Given the description of an element on the screen output the (x, y) to click on. 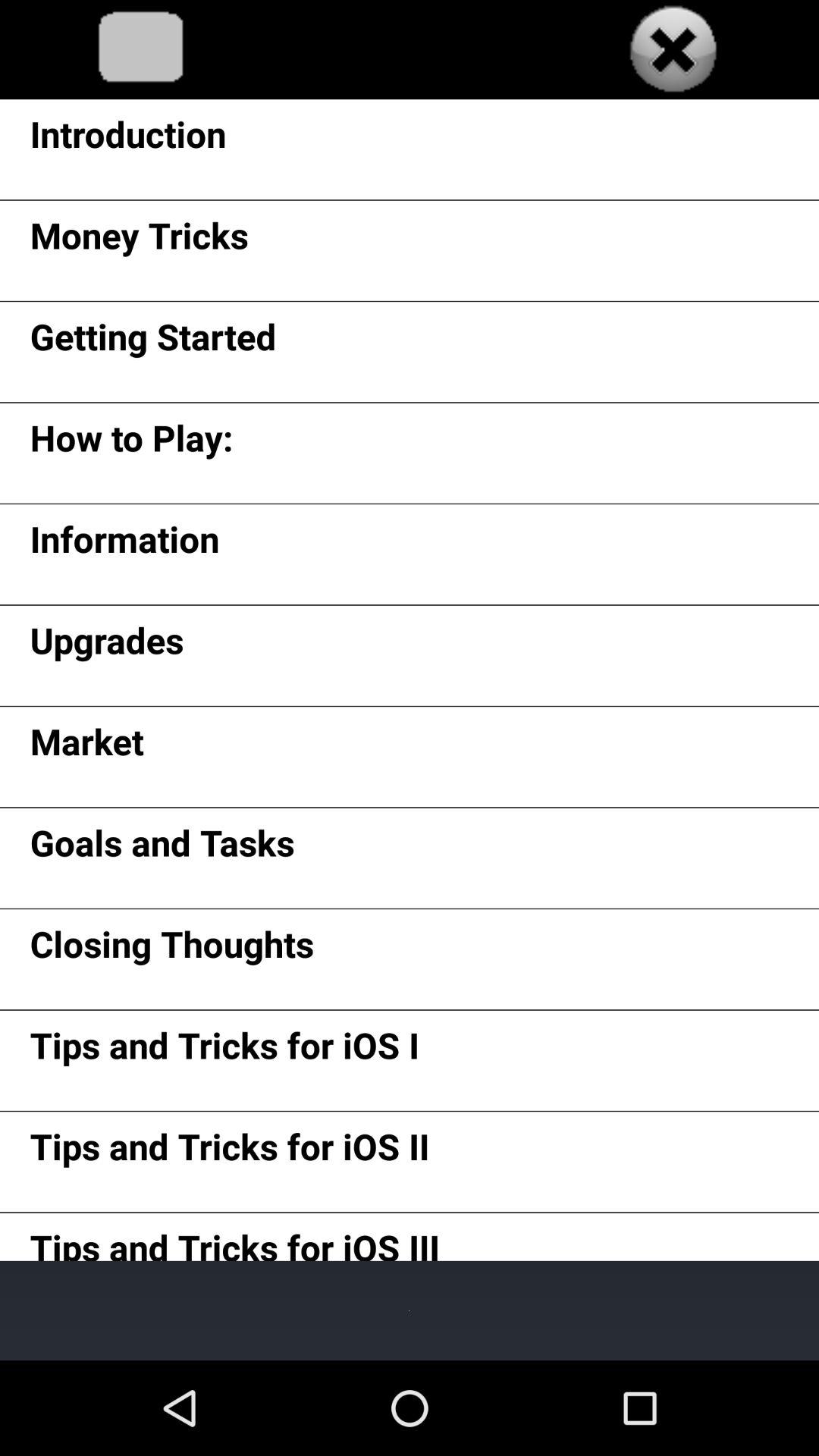
click the app above upgrades icon (124, 544)
